Given the description of an element on the screen output the (x, y) to click on. 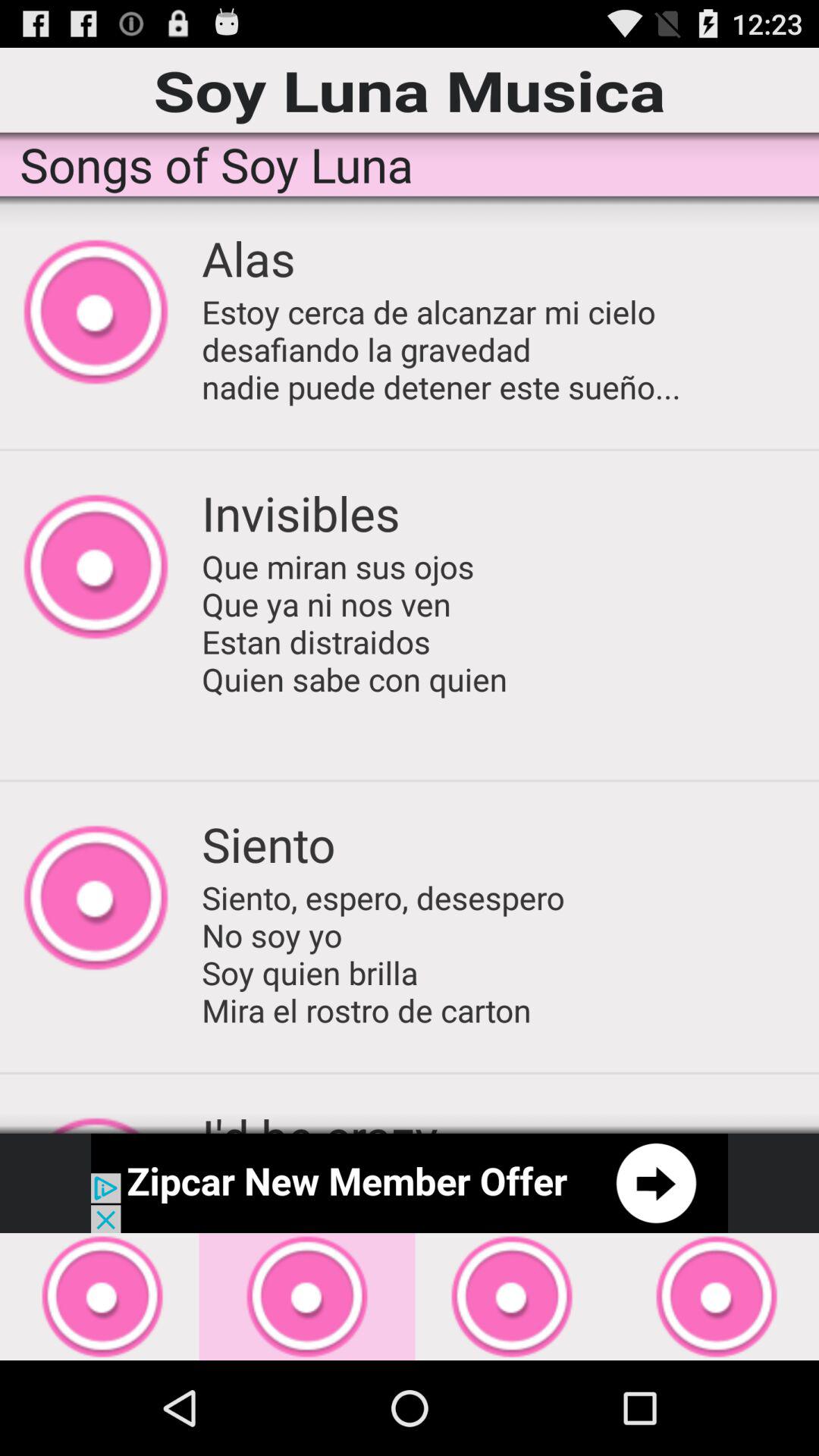
open advertisement (409, 1183)
